Given the description of an element on the screen output the (x, y) to click on. 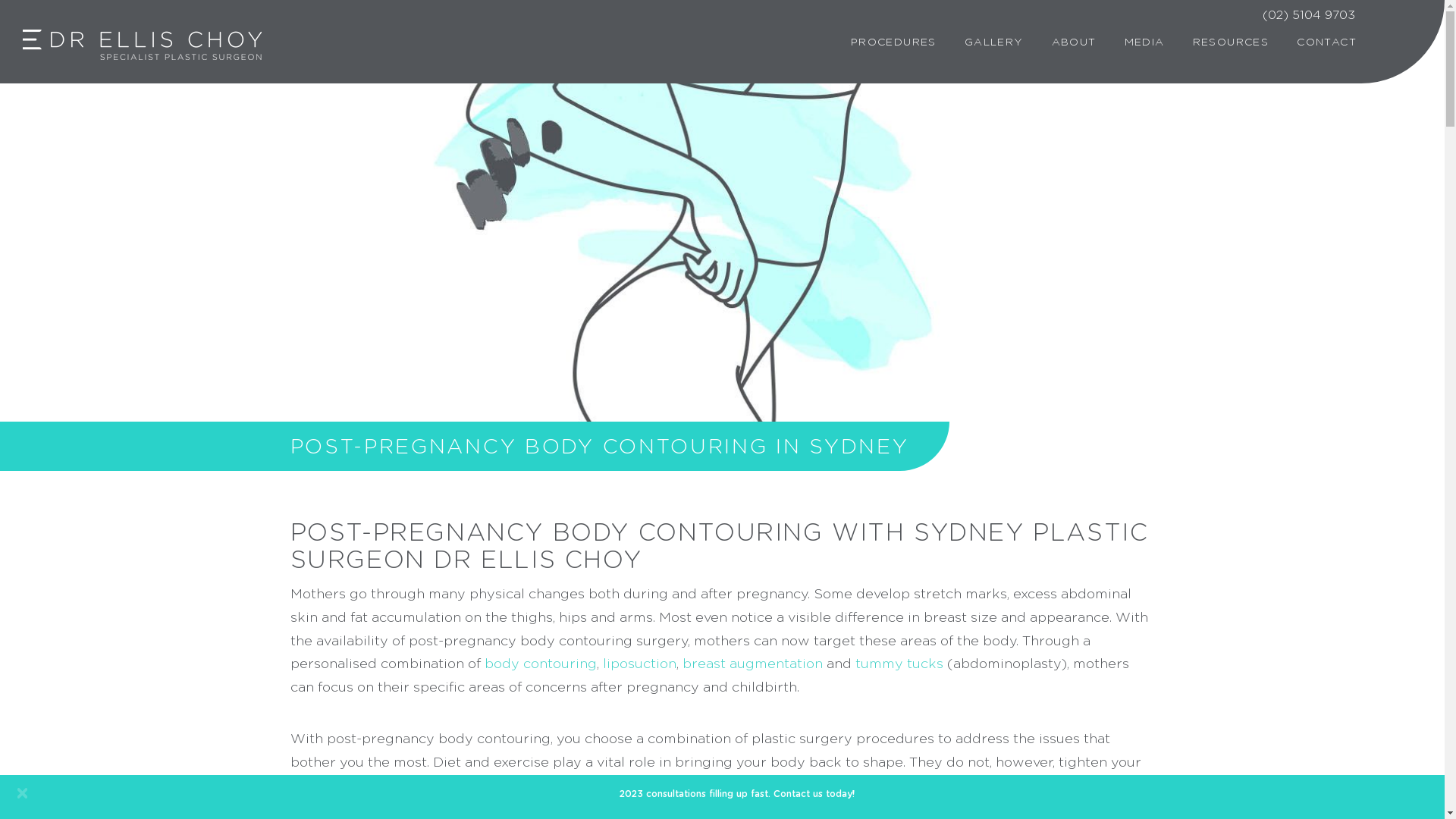
(02) 5104 9703 Element type: text (1308, 15)
2023 consultations filling up fast.
Contact us today! Element type: text (722, 796)
GALLERY Element type: text (994, 42)
RESOURCES Element type: text (1230, 42)
ABOUT Element type: text (1073, 42)
CONTACT Element type: text (1326, 42)
PROCEDURES Element type: text (893, 42)
breast augmentation Element type: text (752, 664)
tummy tucks Element type: text (899, 664)
body contouring Element type: text (539, 664)
liposuction Element type: text (638, 664)
MEDIA Element type: text (1144, 42)
